Given the description of an element on the screen output the (x, y) to click on. 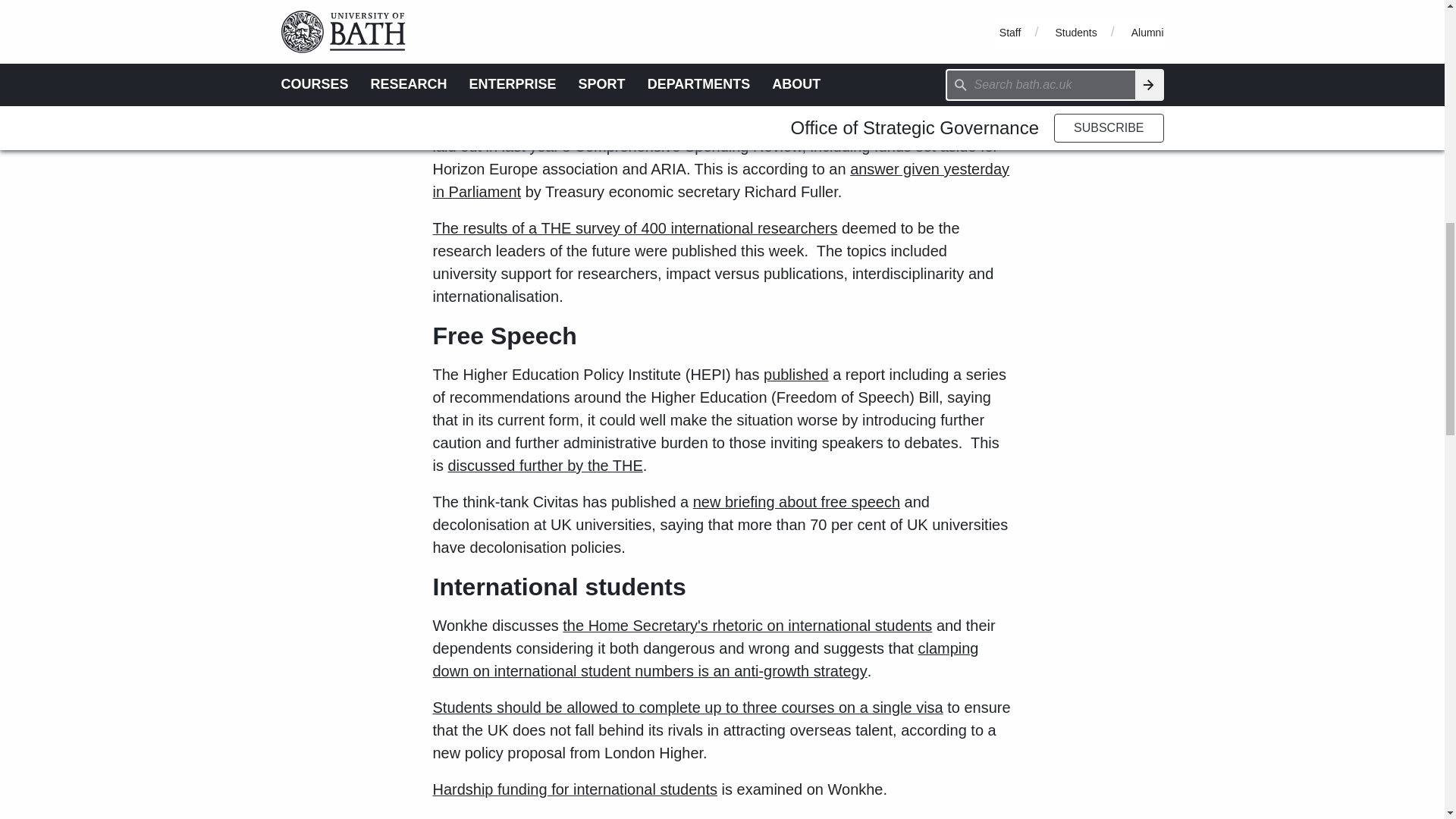
discussed further by the THE (544, 465)
The results of a THE survey of 400 international researchers (634, 228)
Hardship funding for international students (574, 789)
answer given yesterday in Parliament (720, 179)
the Home Secretary's rhetoric on international students (746, 625)
published (795, 374)
new briefing about free speech (796, 501)
this accidental meeting of the target is explored by Wonkhe (696, 52)
on the politics of hitting the target (702, 75)
